Given the description of an element on the screen output the (x, y) to click on. 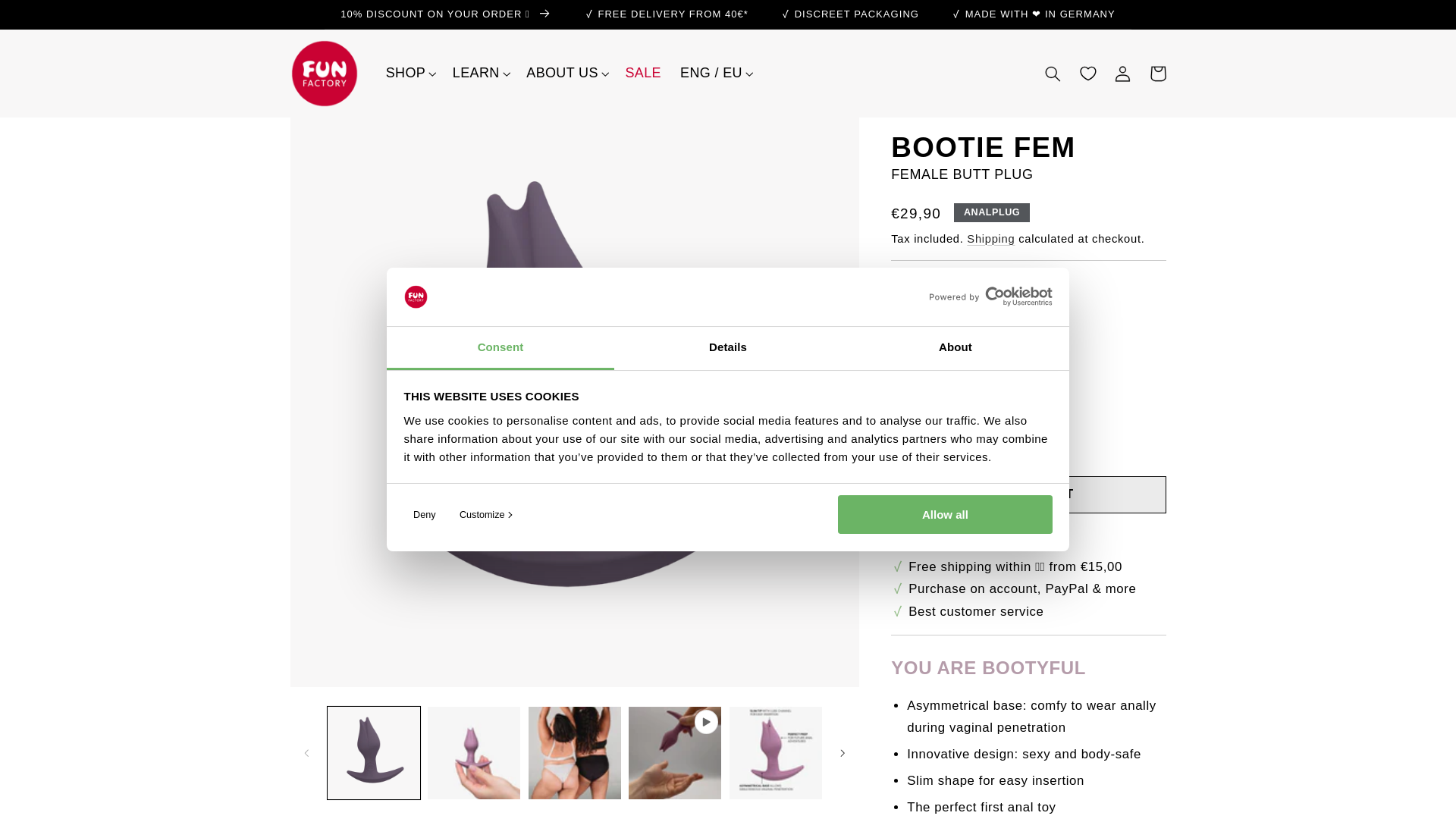
Consent (500, 348)
1 (944, 436)
Details (727, 348)
About (954, 348)
